Given the description of an element on the screen output the (x, y) to click on. 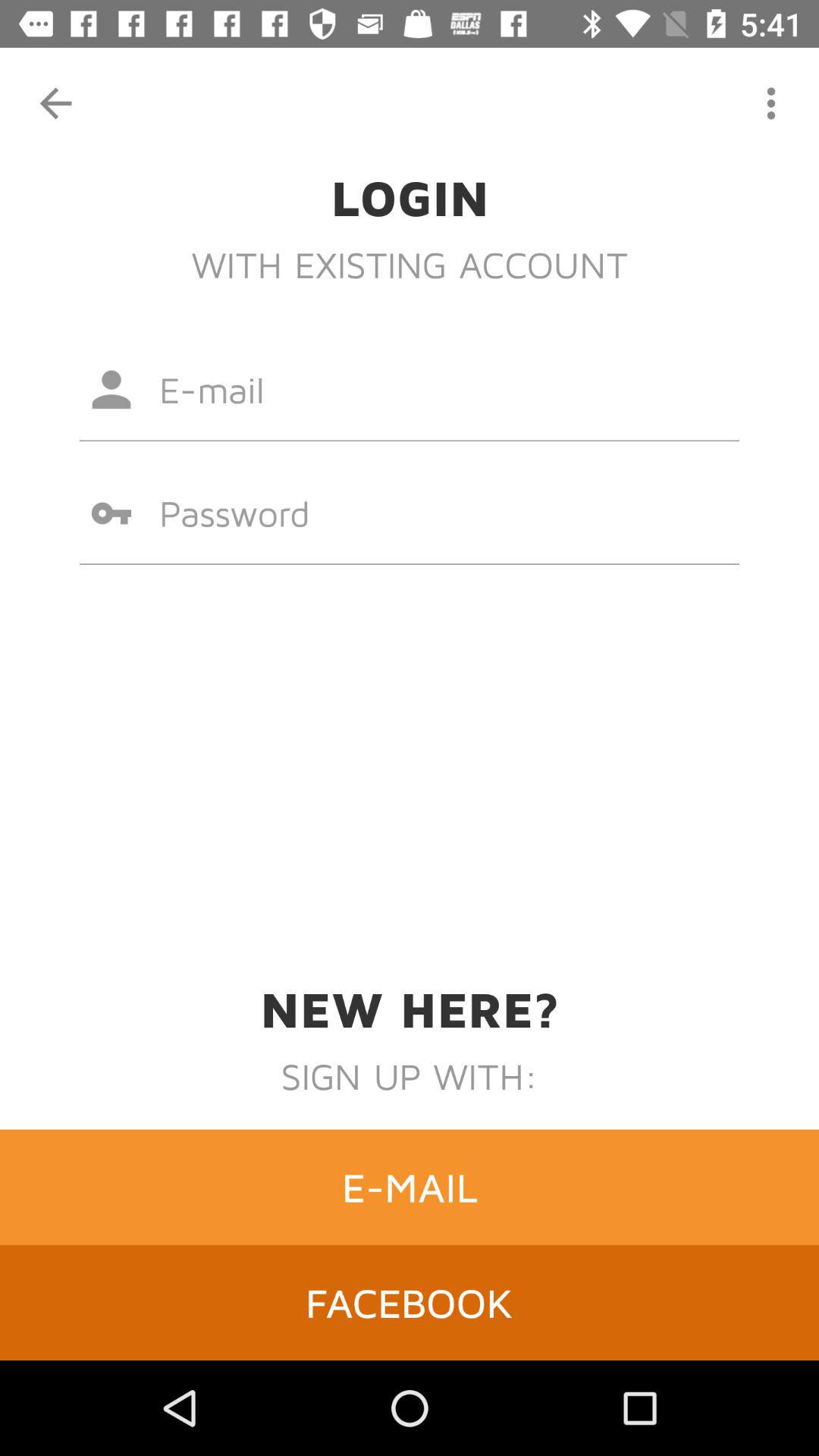
select the item above login icon (55, 103)
